Given the description of an element on the screen output the (x, y) to click on. 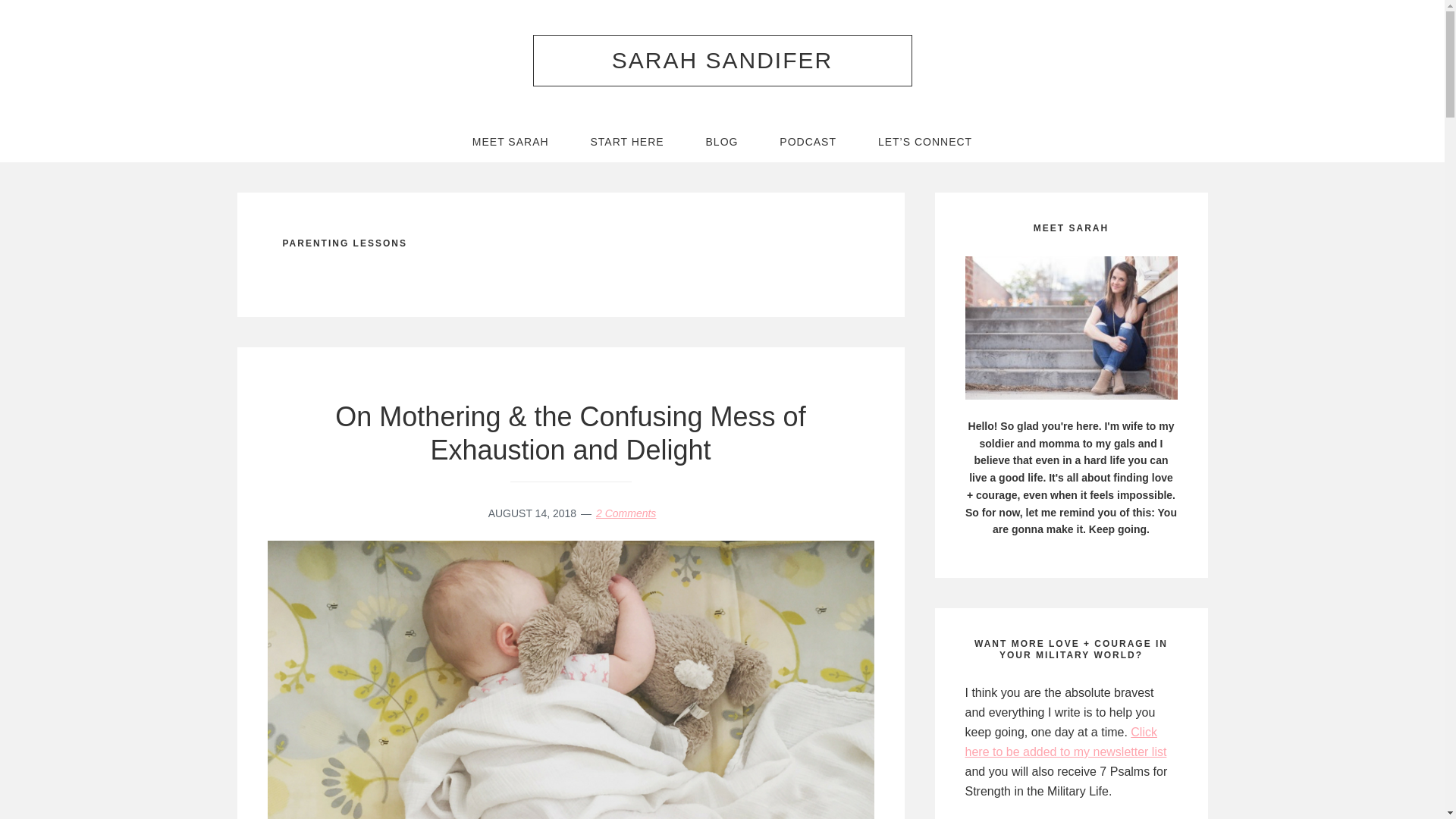
BLOG (722, 141)
PODCAST (808, 141)
SARAH SANDIFER (721, 59)
START HERE (627, 141)
2 Comments (625, 512)
Meet Sarah (1069, 327)
MEET SARAH (509, 141)
